Given the description of an element on the screen output the (x, y) to click on. 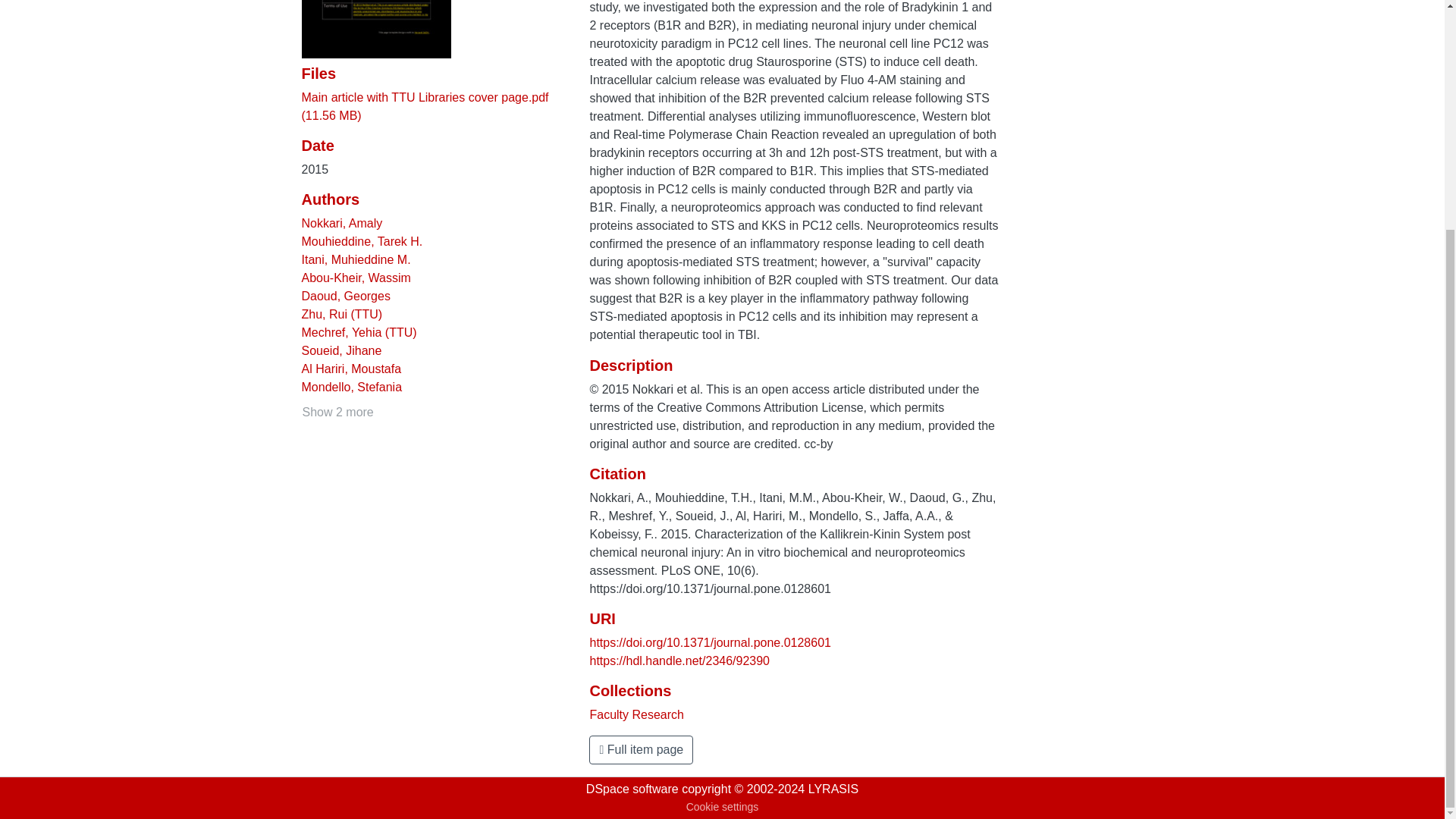
Mouhieddine, Tarek H. (362, 241)
Faculty Research (636, 714)
Mondello, Stefania (352, 386)
DSpace software (632, 788)
Show 2 more (337, 412)
Full item page (641, 749)
Abou-Kheir, Wassim (355, 277)
Itani, Muhieddine M. (355, 259)
Daoud, Georges (345, 295)
Al Hariri, Moustafa (351, 368)
